Given the description of an element on the screen output the (x, y) to click on. 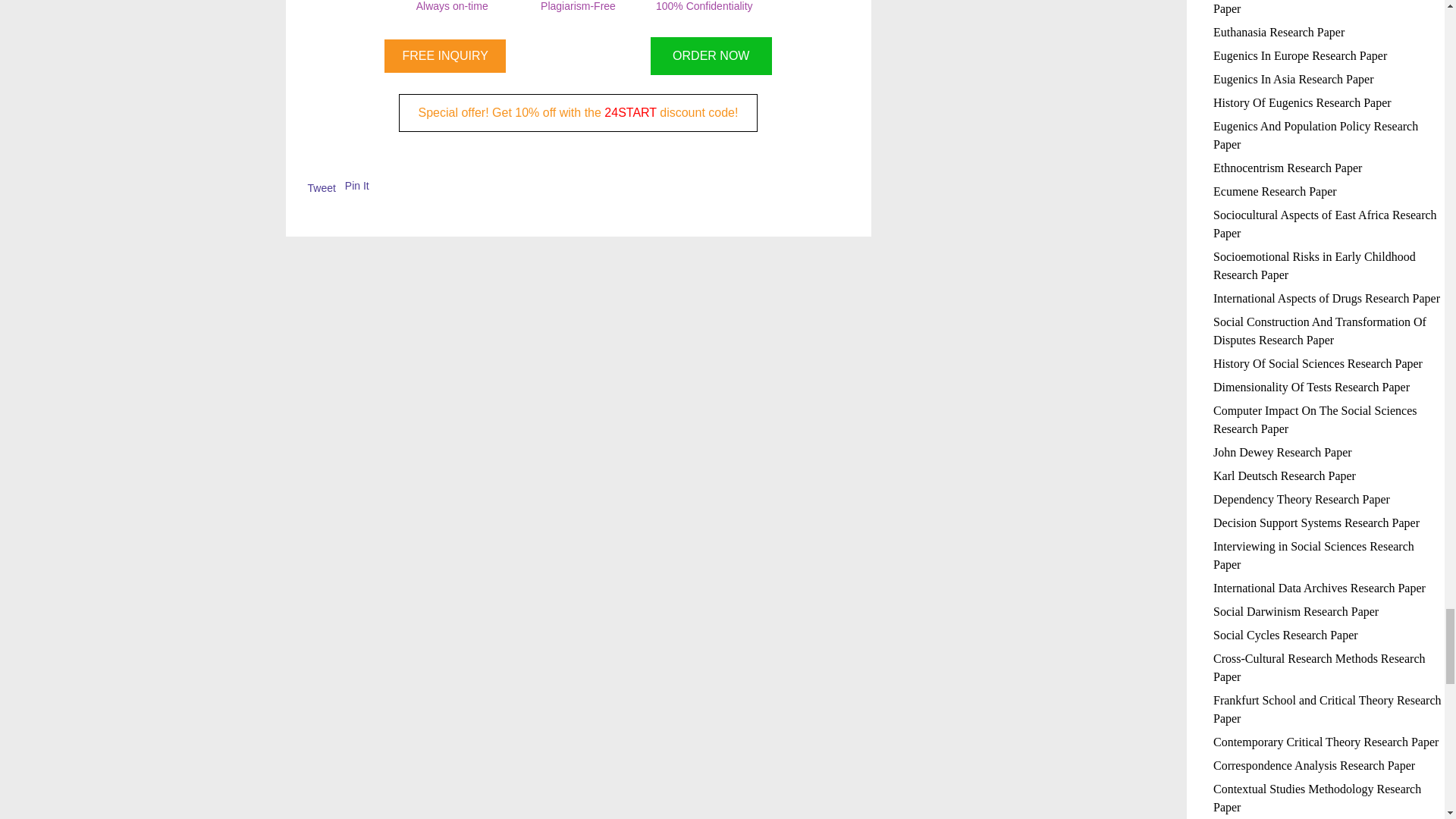
ORDER NOW (710, 55)
Pin It (357, 185)
FREE INQUIRY (444, 55)
Tweet (321, 187)
